Given the description of an element on the screen output the (x, y) to click on. 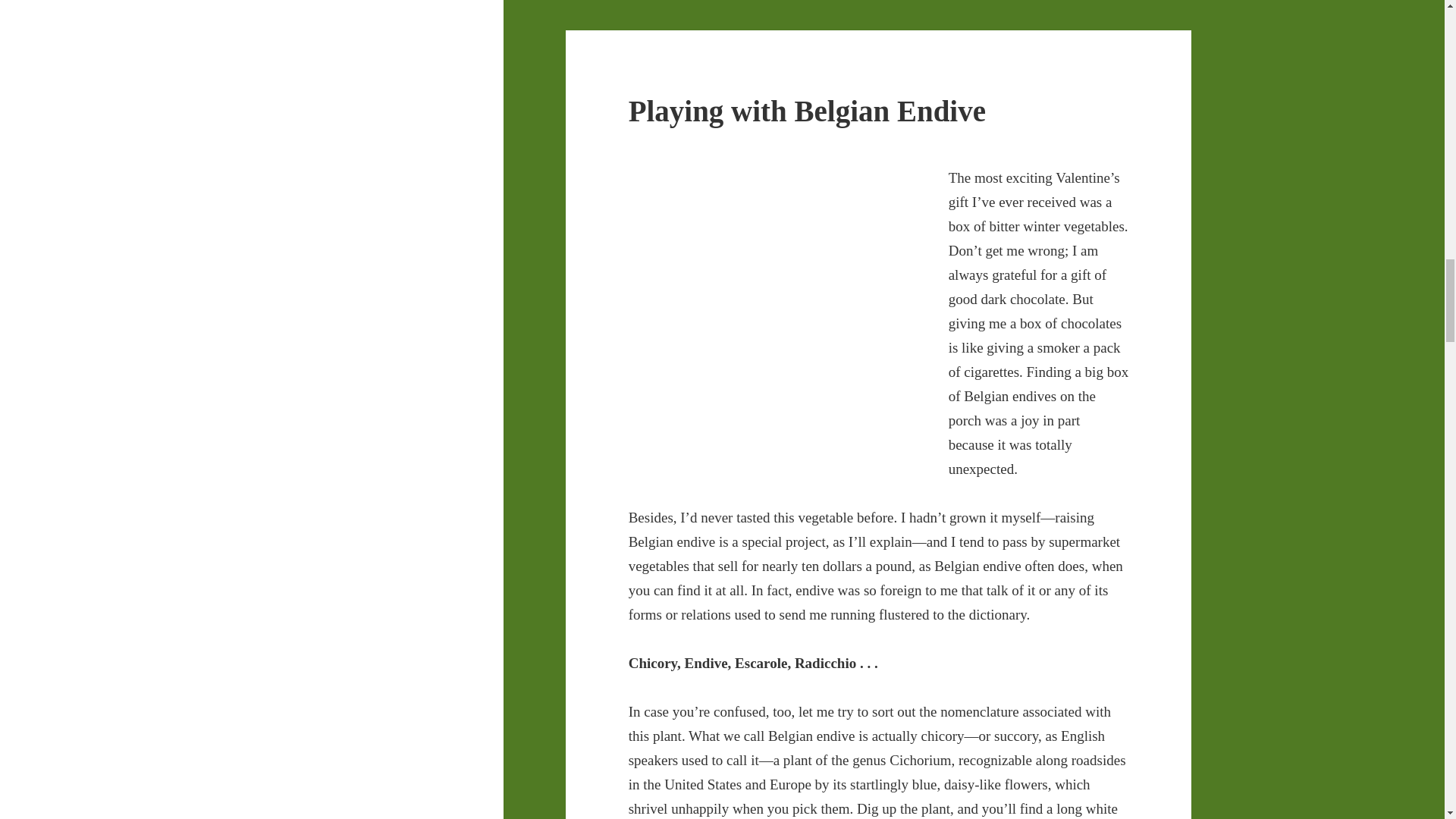
endive bouquet (776, 319)
